Given the description of an element on the screen output the (x, y) to click on. 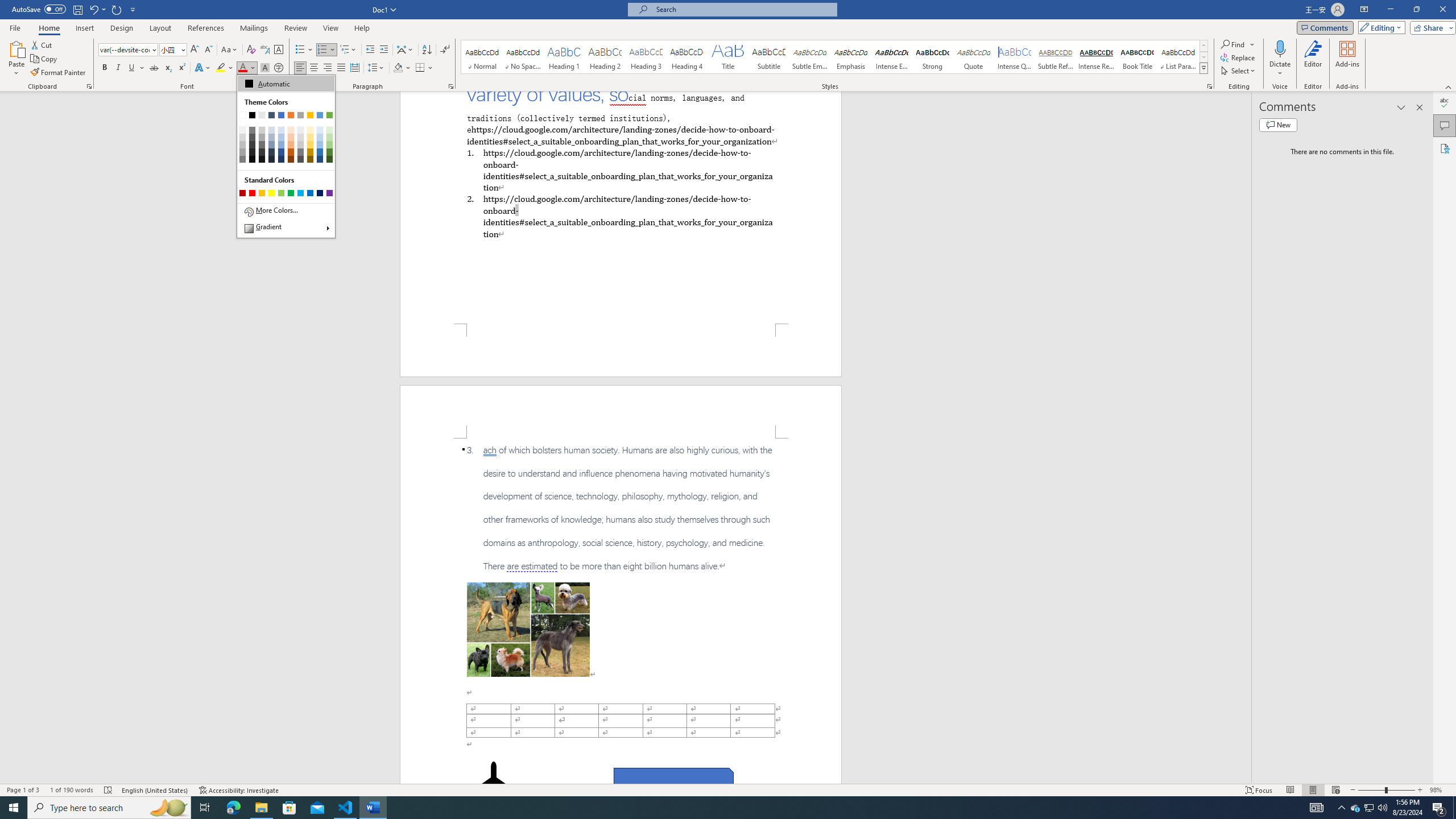
Accessibility (1444, 147)
Strong (932, 56)
Subtle Reference (1055, 56)
